Given the description of an element on the screen output the (x, y) to click on. 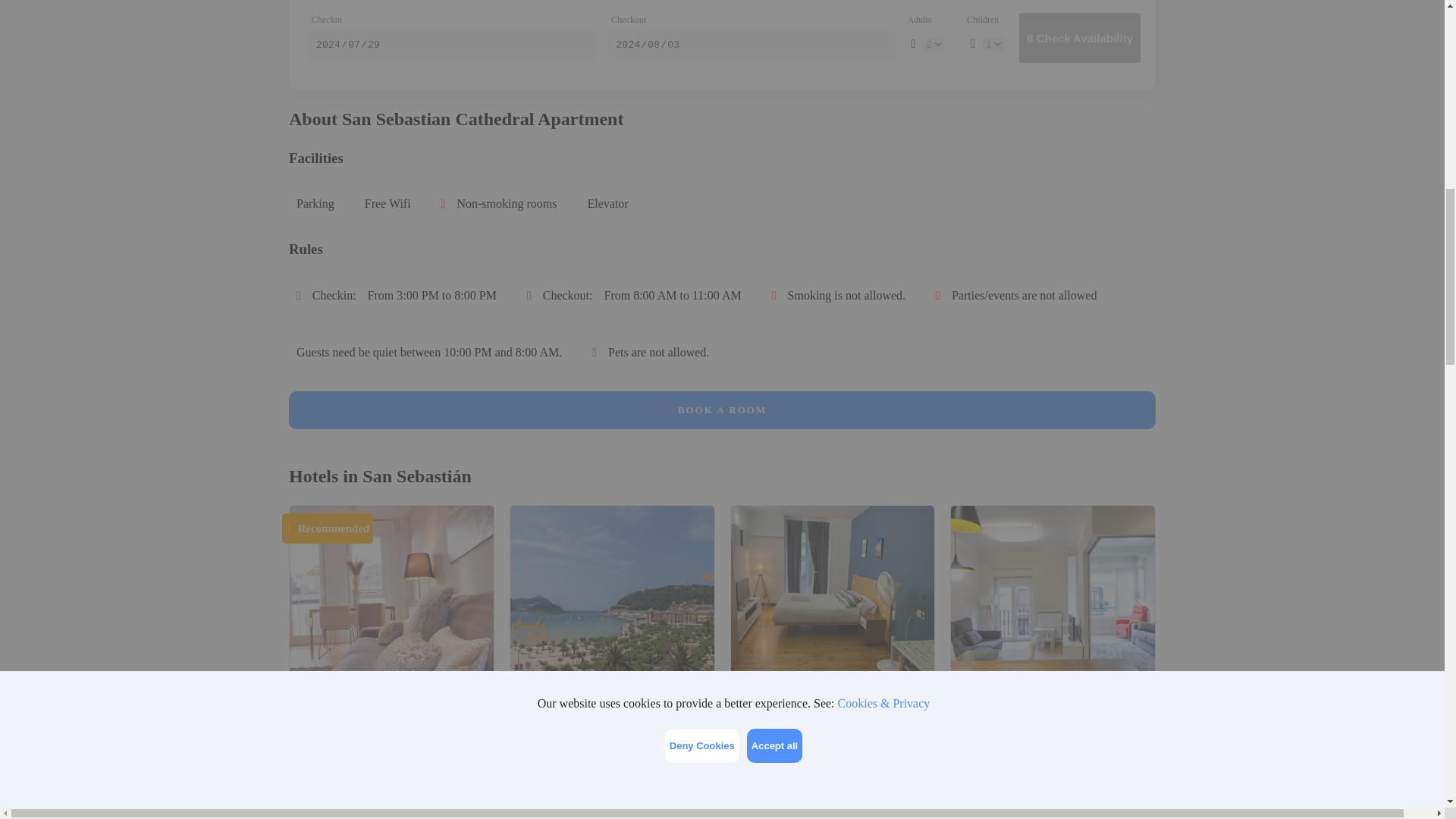
BOOK A ROOM (722, 410)
2024-08-03 (751, 44)
Check Availability (1079, 37)
2024-07-29 (451, 44)
